Given the description of an element on the screen output the (x, y) to click on. 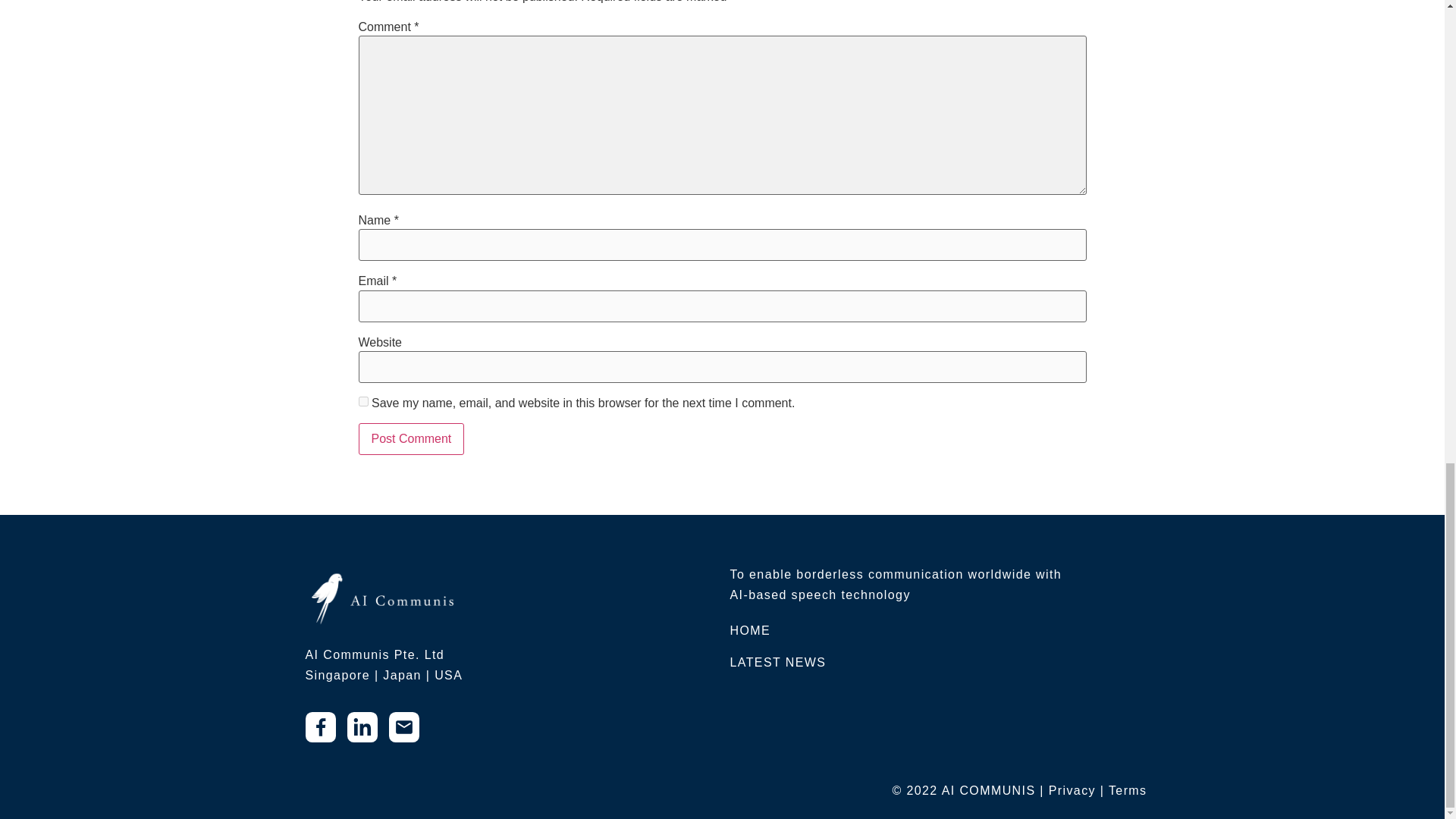
Post Comment (411, 439)
yes (363, 401)
LATEST NEWS (777, 662)
HOME (749, 630)
Post Comment (411, 439)
